Given the description of an element on the screen output the (x, y) to click on. 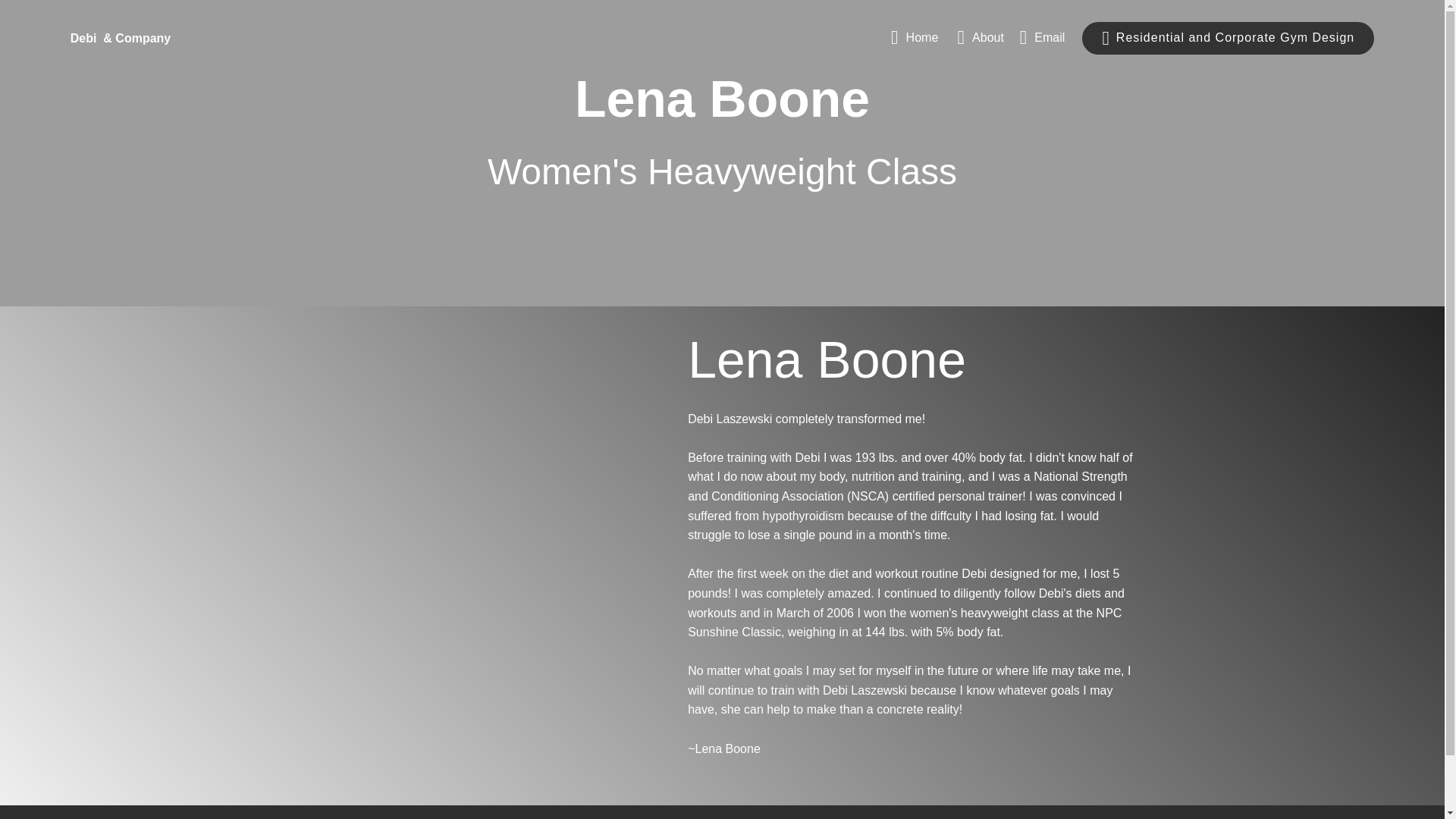
Residential and Corporate Gym Design (1227, 38)
About (979, 37)
Home  (916, 37)
Email (1042, 37)
